Given the description of an element on the screen output the (x, y) to click on. 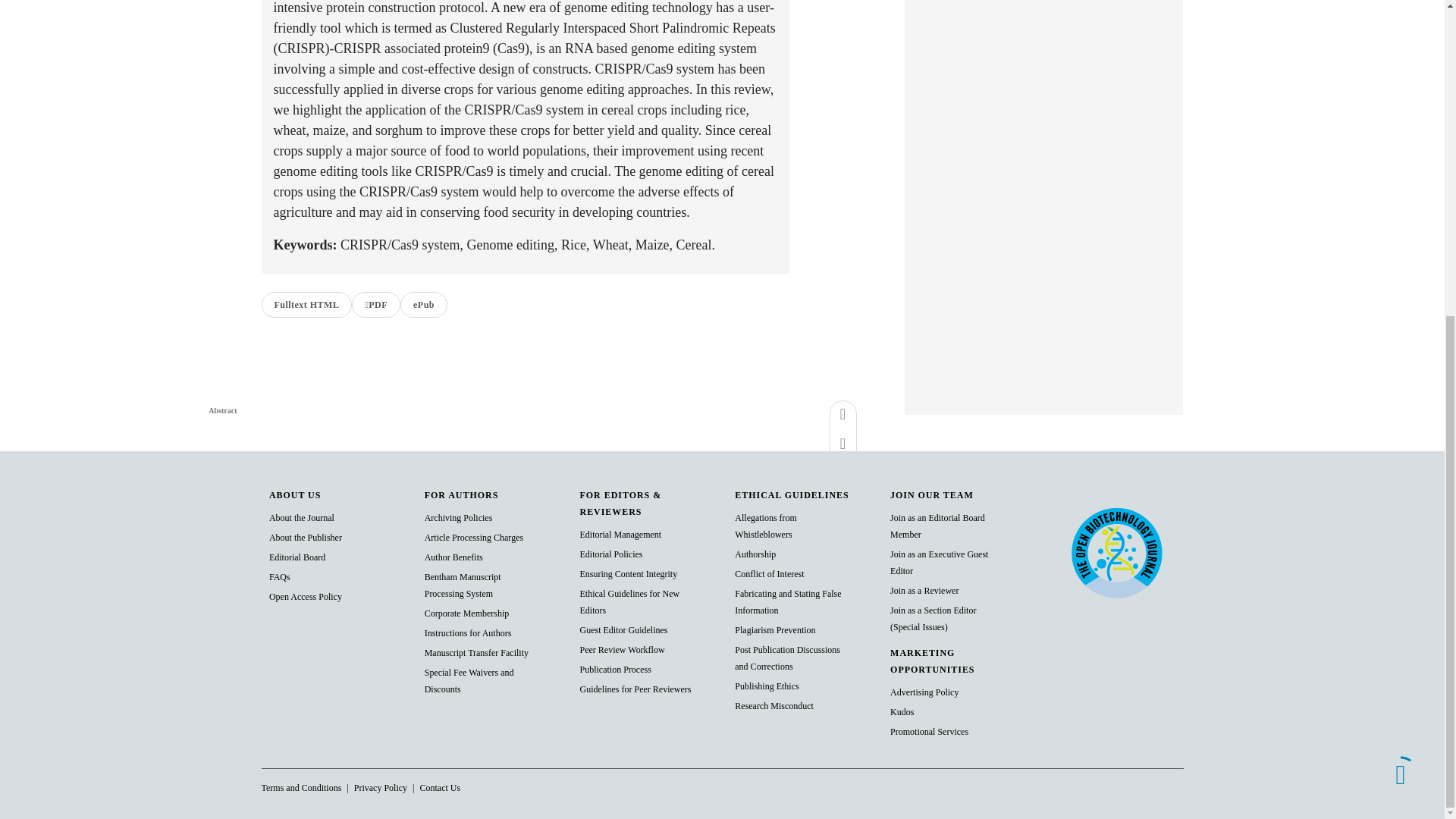
Terms and Conditions (300, 787)
Back to top1 (1400, 265)
Privacy Policy (439, 787)
The Open Biotechnology Journal (1115, 552)
Privacy Policy (380, 787)
